Given the description of an element on the screen output the (x, y) to click on. 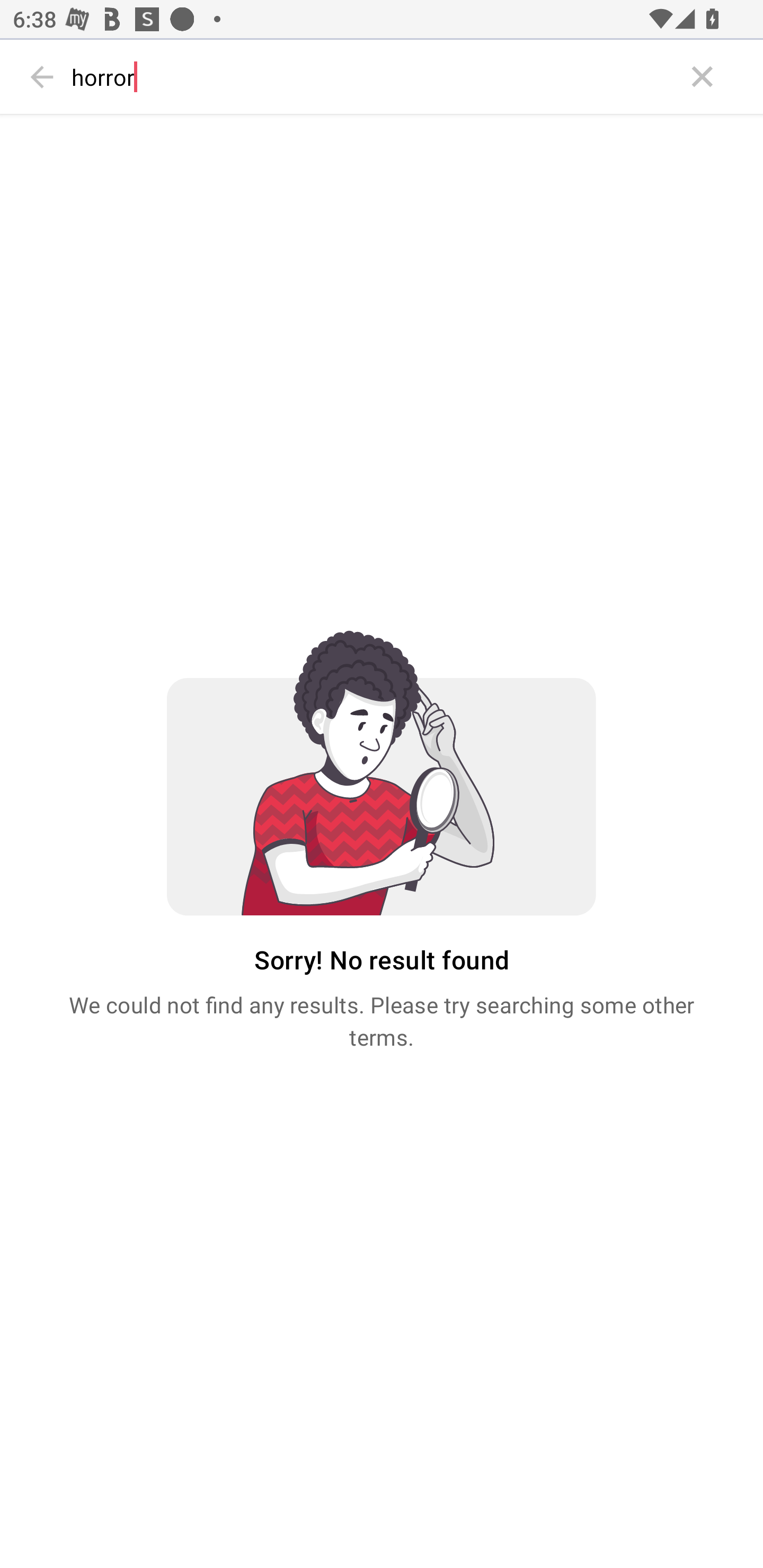
Back (42, 76)
horror (373, 76)
Close (702, 76)
